Given the description of an element on the screen output the (x, y) to click on. 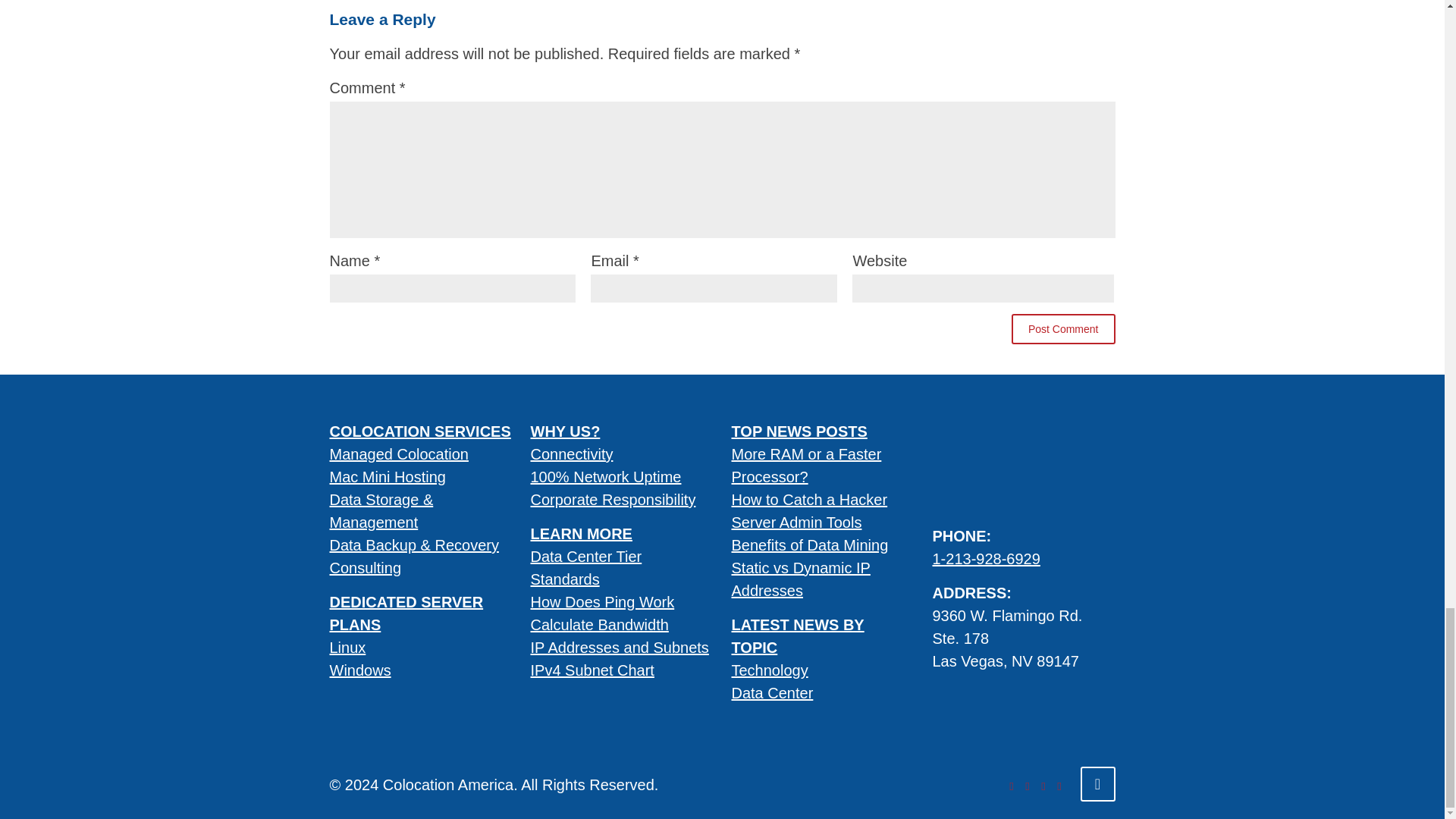
Post Comment (1063, 328)
